Given the description of an element on the screen output the (x, y) to click on. 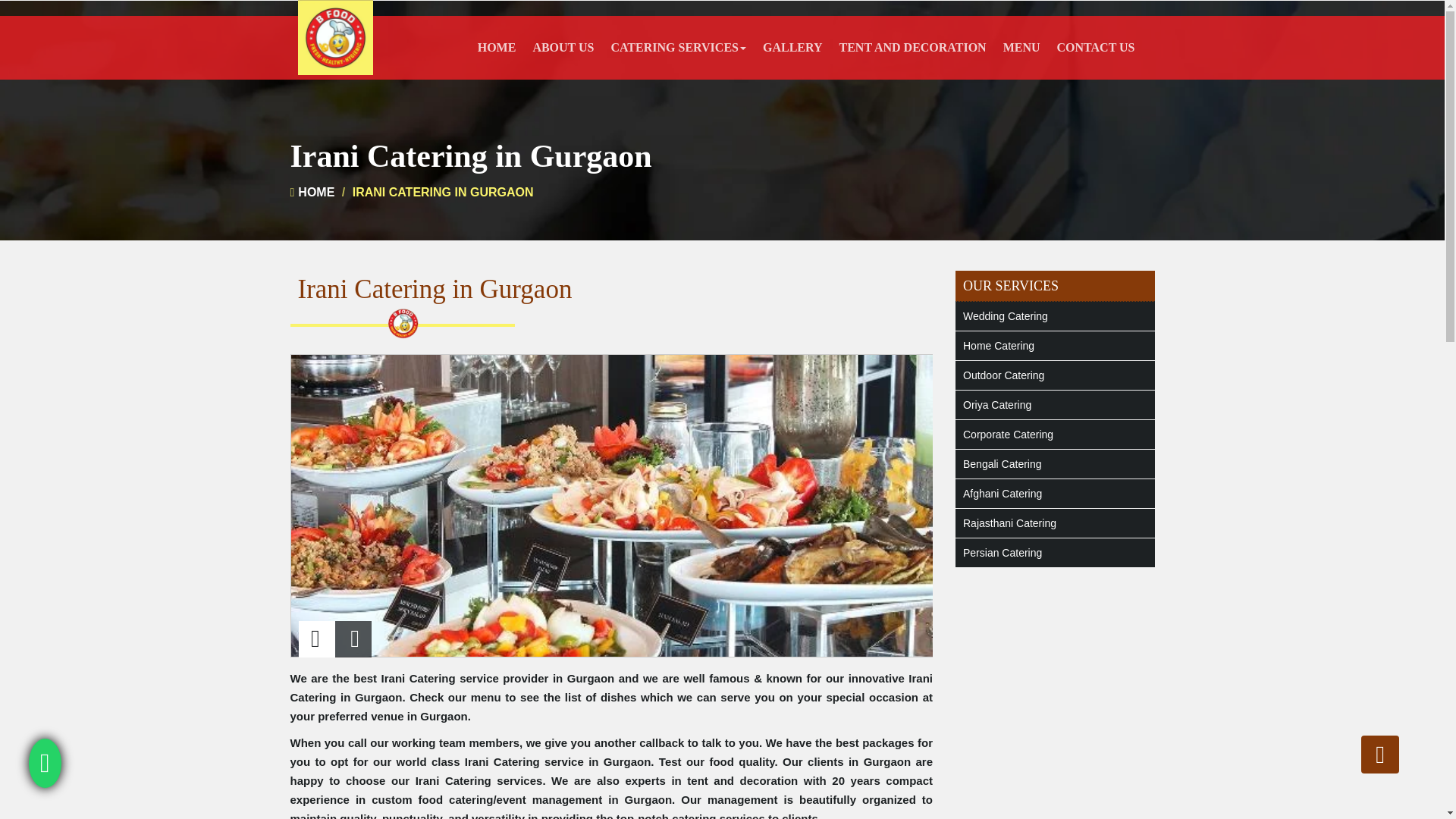
Bengali Catering in Gurgaon (1054, 463)
Oriya Catering in Gurgaon (1054, 404)
Home Catering (1054, 345)
Corporate Catering in Gurgaon (1054, 434)
Afghani Catering in Gurgaon (1054, 493)
ABOUT US (563, 47)
Outdoor Catering in Gurgaon (1054, 375)
Home Catering in Gurgaon (1054, 345)
CONTACT US (1095, 47)
Persian Catering in Gurgaon (1054, 552)
